Given the description of an element on the screen output the (x, y) to click on. 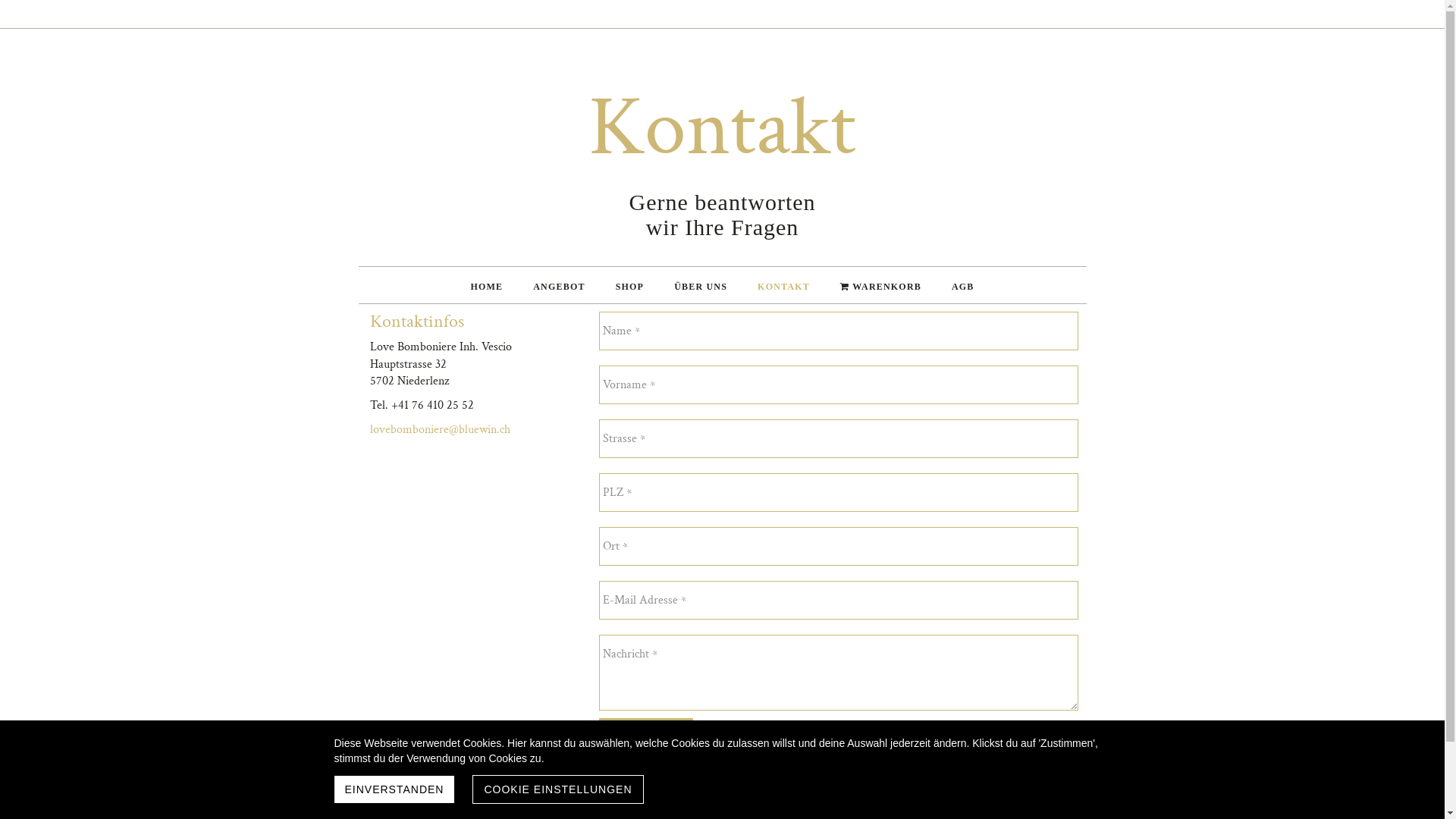
SHOP Element type: text (629, 284)
COOKIE EINSTELLUNGEN Element type: text (557, 789)
EINVERSTANDEN Element type: text (393, 789)
WARENKORB Element type: text (880, 284)
ABSENDEN Element type: text (646, 731)
HOME Element type: text (486, 284)
KONTAKT Element type: text (783, 284)
ANGEBOT Element type: text (558, 284)
AGB Element type: text (962, 284)
lovebomboniere@bluewin.ch Element type: text (440, 429)
